Given the description of an element on the screen output the (x, y) to click on. 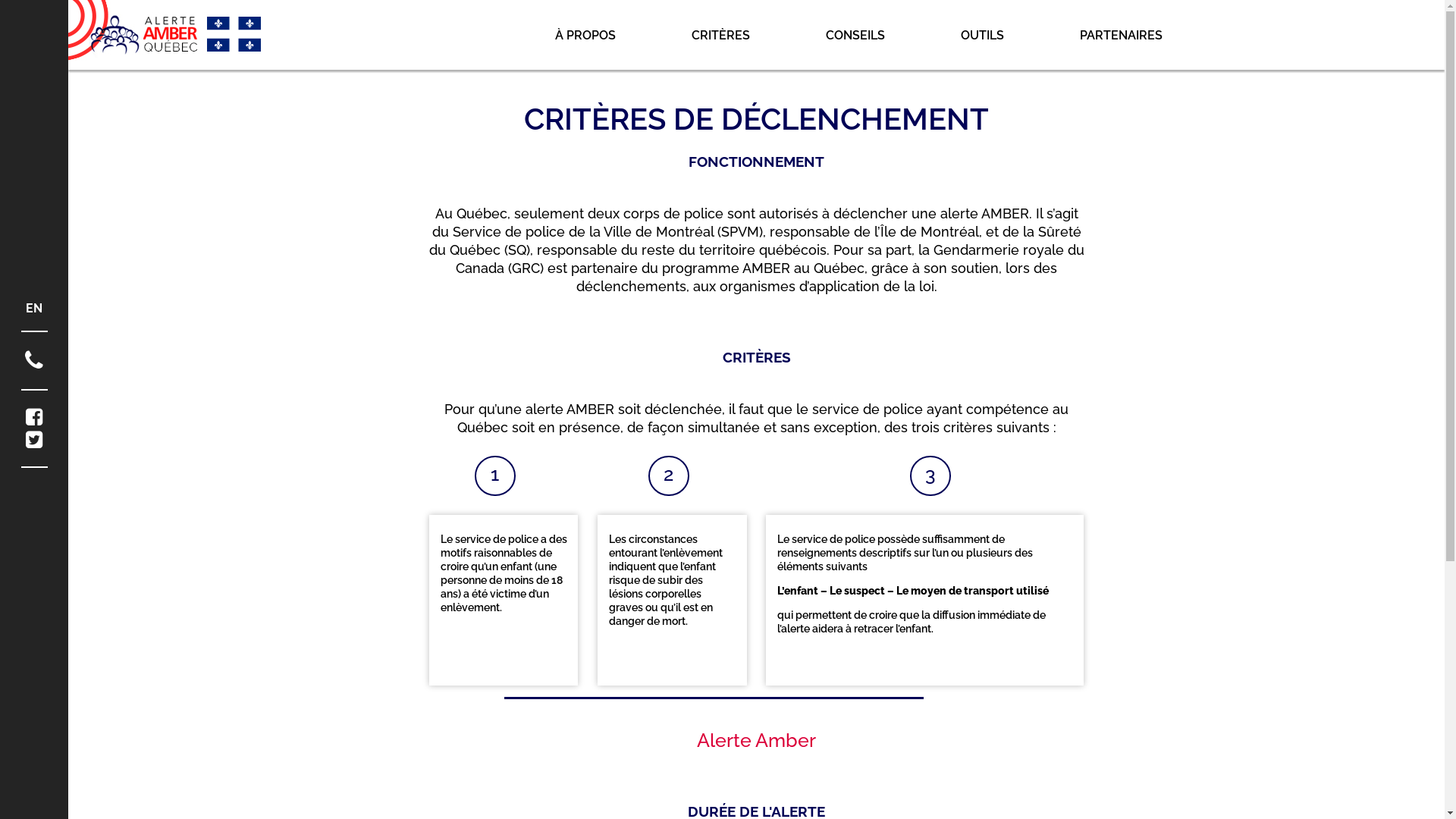
CONSEILS Element type: text (854, 34)
PARTENAIRES Element type: text (1120, 34)
OUTILS Element type: text (982, 34)
EN Element type: text (33, 308)
